Given the description of an element on the screen output the (x, y) to click on. 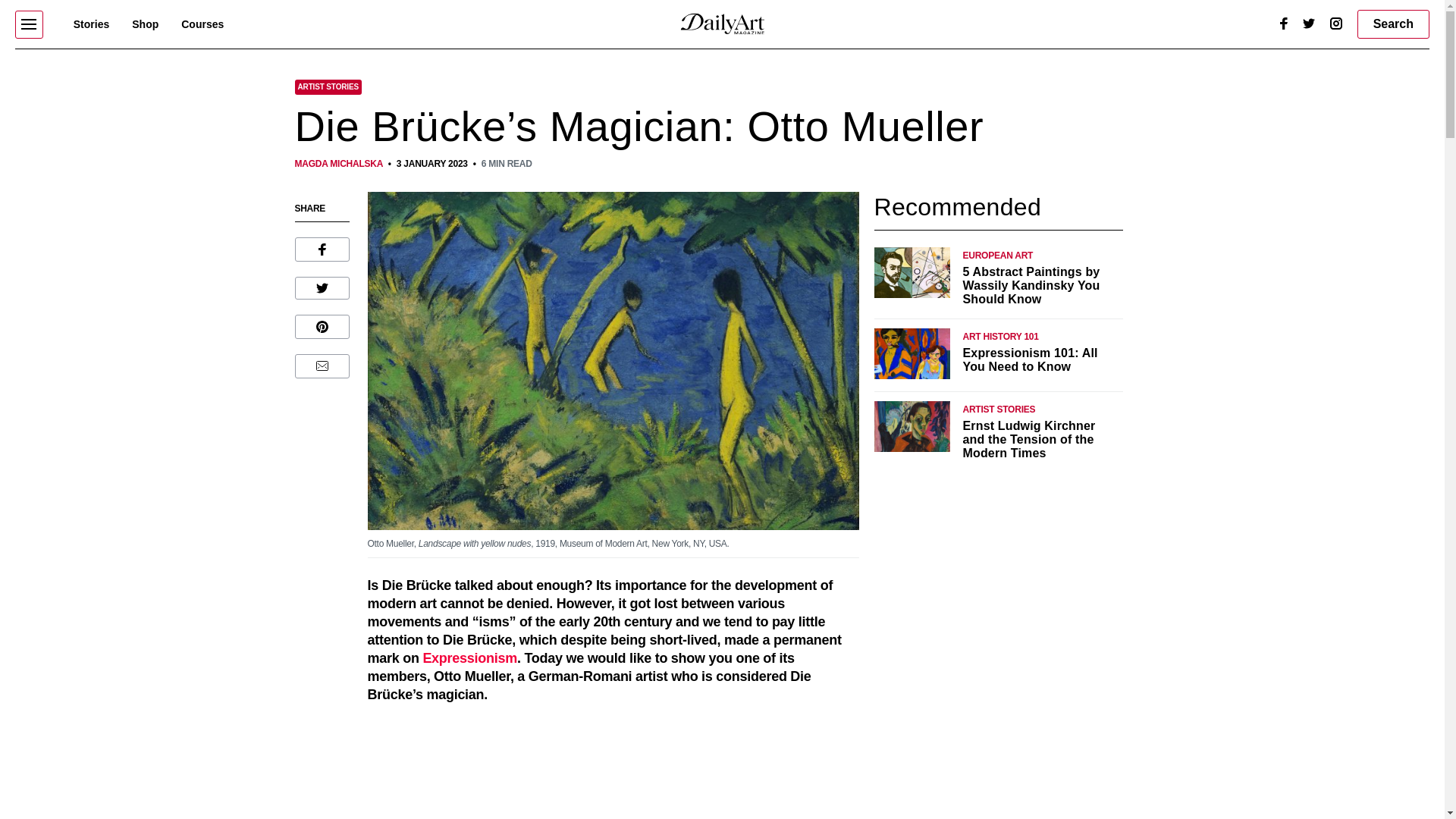
Tweet This Post (321, 287)
Search (1392, 23)
Stories (91, 24)
Shop (145, 24)
Pin This Post (321, 326)
Courses (202, 24)
